Given the description of an element on the screen output the (x, y) to click on. 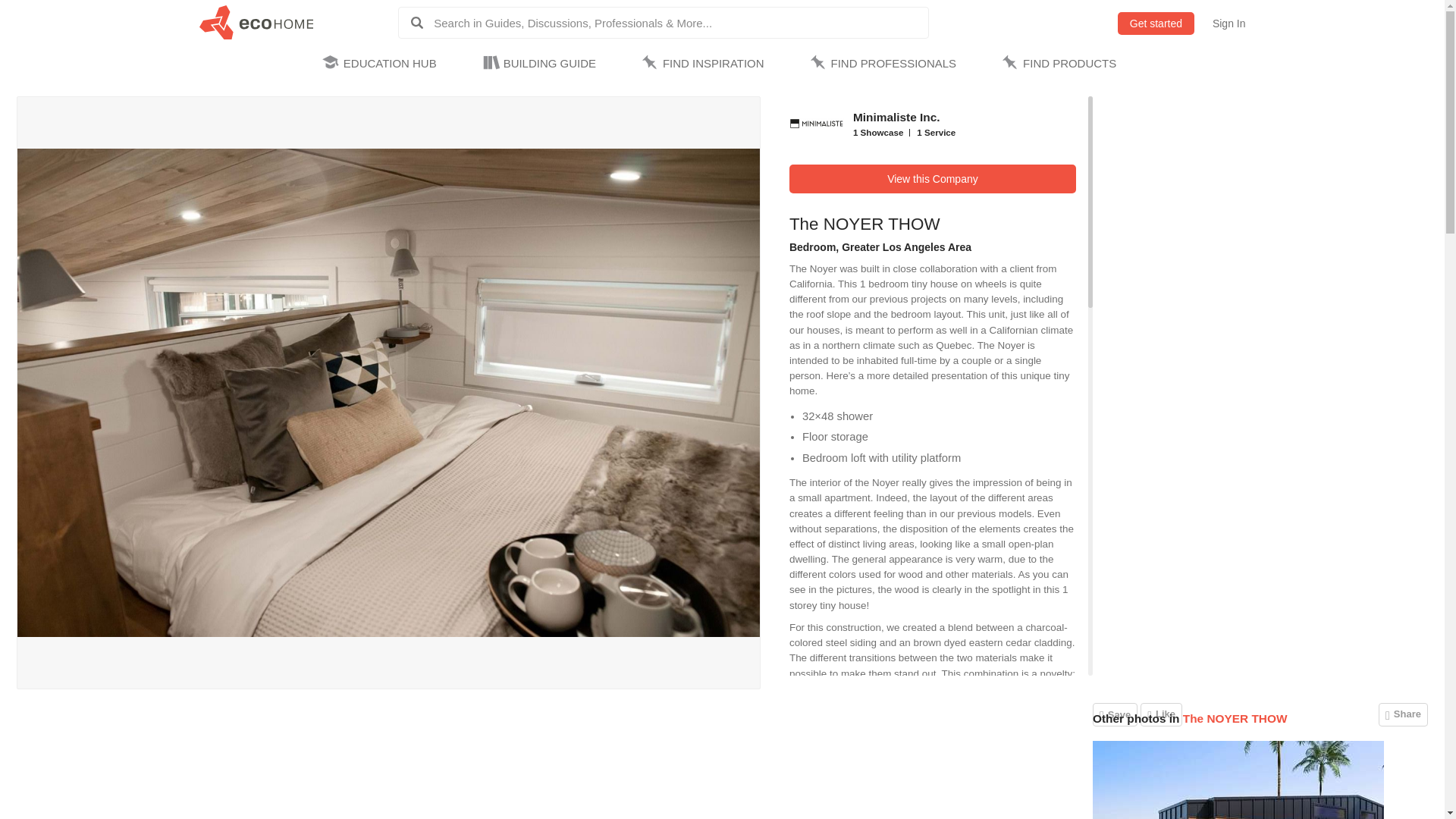
Get started (1155, 23)
Sign In (1229, 23)
BUILDING GUIDE (542, 63)
EDUCATION HUB (382, 63)
